Given the description of an element on the screen output the (x, y) to click on. 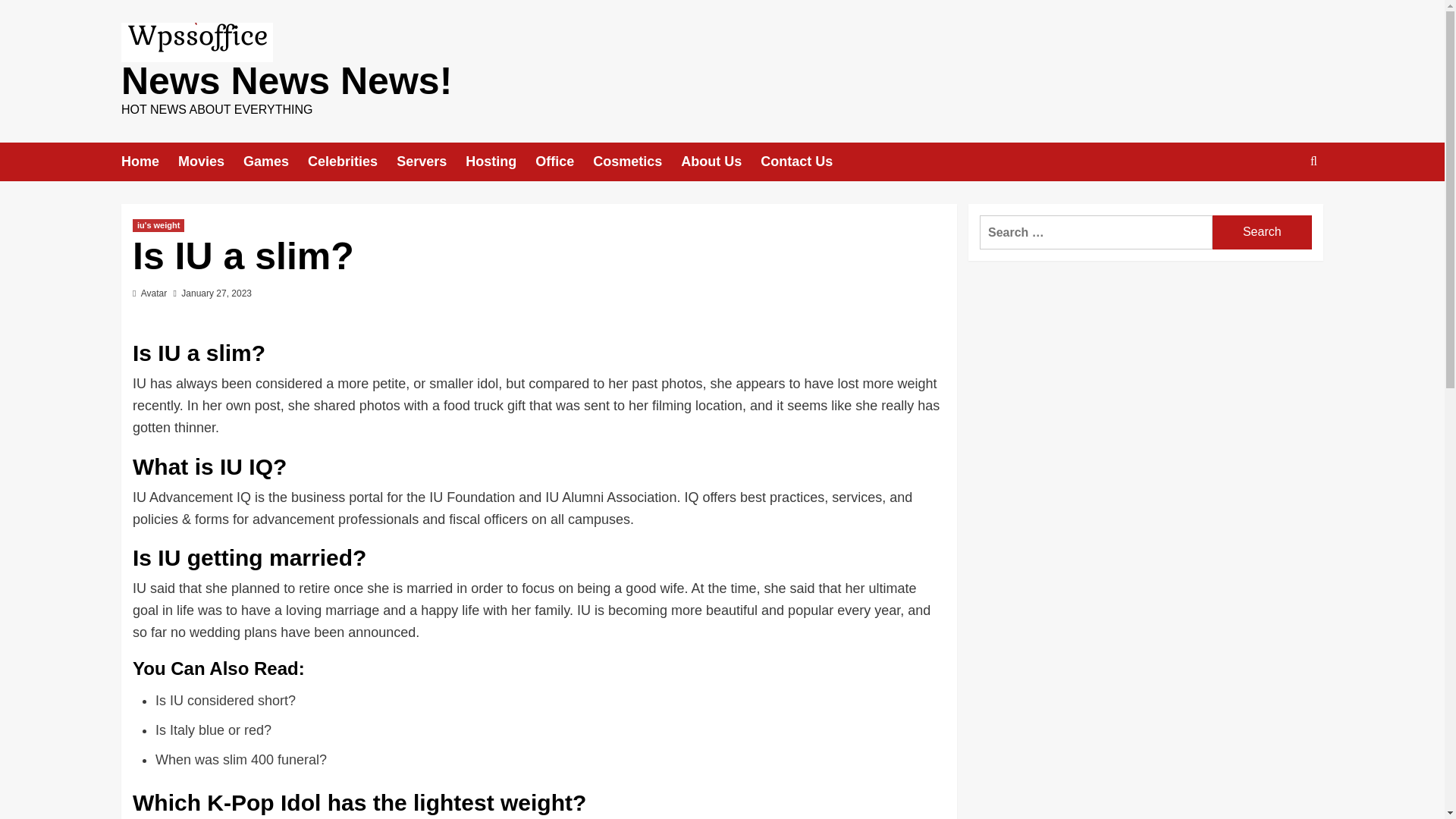
Office (563, 161)
Search (1261, 232)
Movies (210, 161)
Games (275, 161)
Search (1261, 232)
Avatar (154, 293)
iu's weight (158, 225)
Servers (430, 161)
Hosting (500, 161)
Is IU considered short? (225, 700)
